Given the description of an element on the screen output the (x, y) to click on. 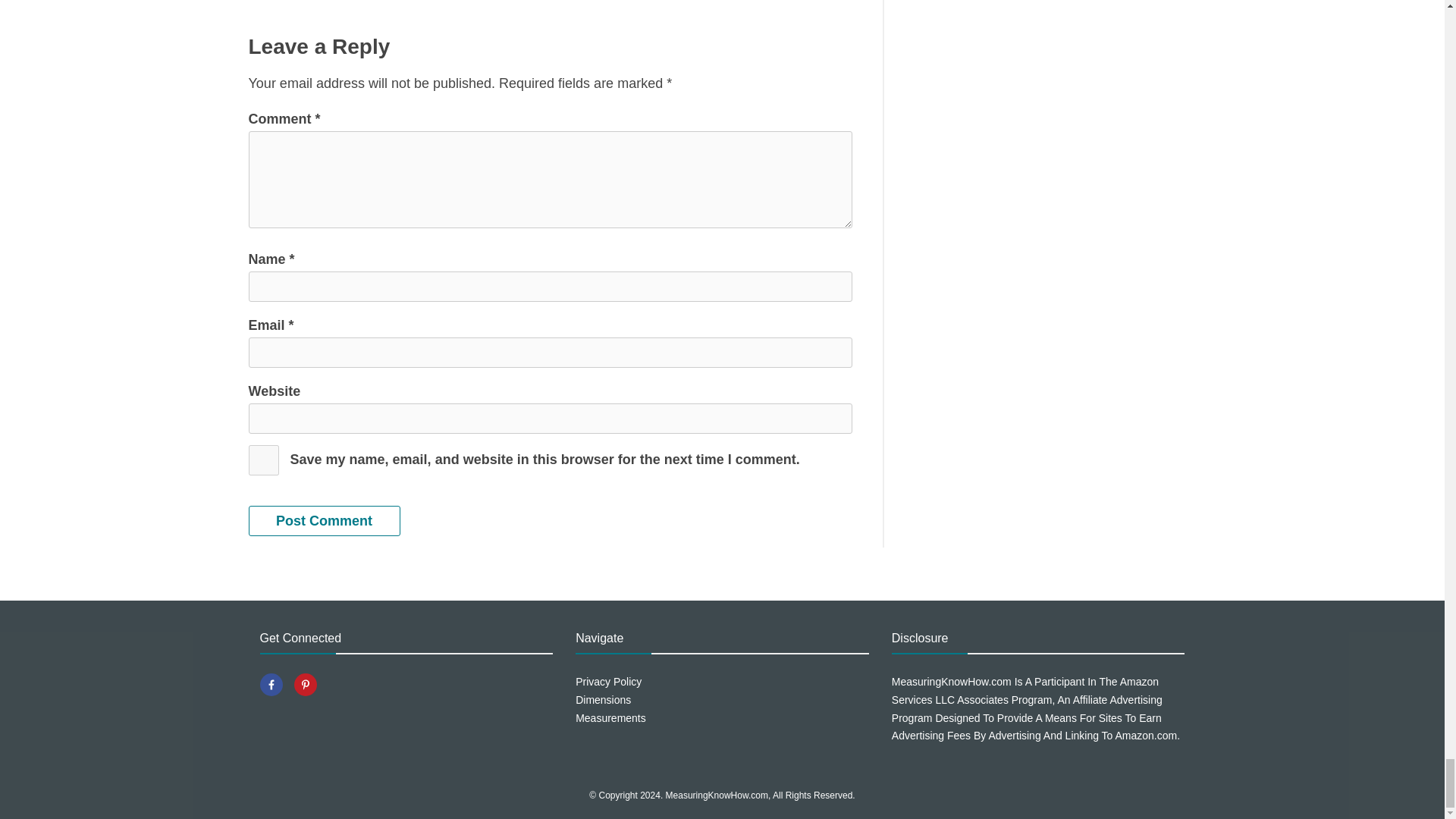
yes (263, 460)
Post Comment (324, 521)
Post Comment (324, 521)
